Given the description of an element on the screen output the (x, y) to click on. 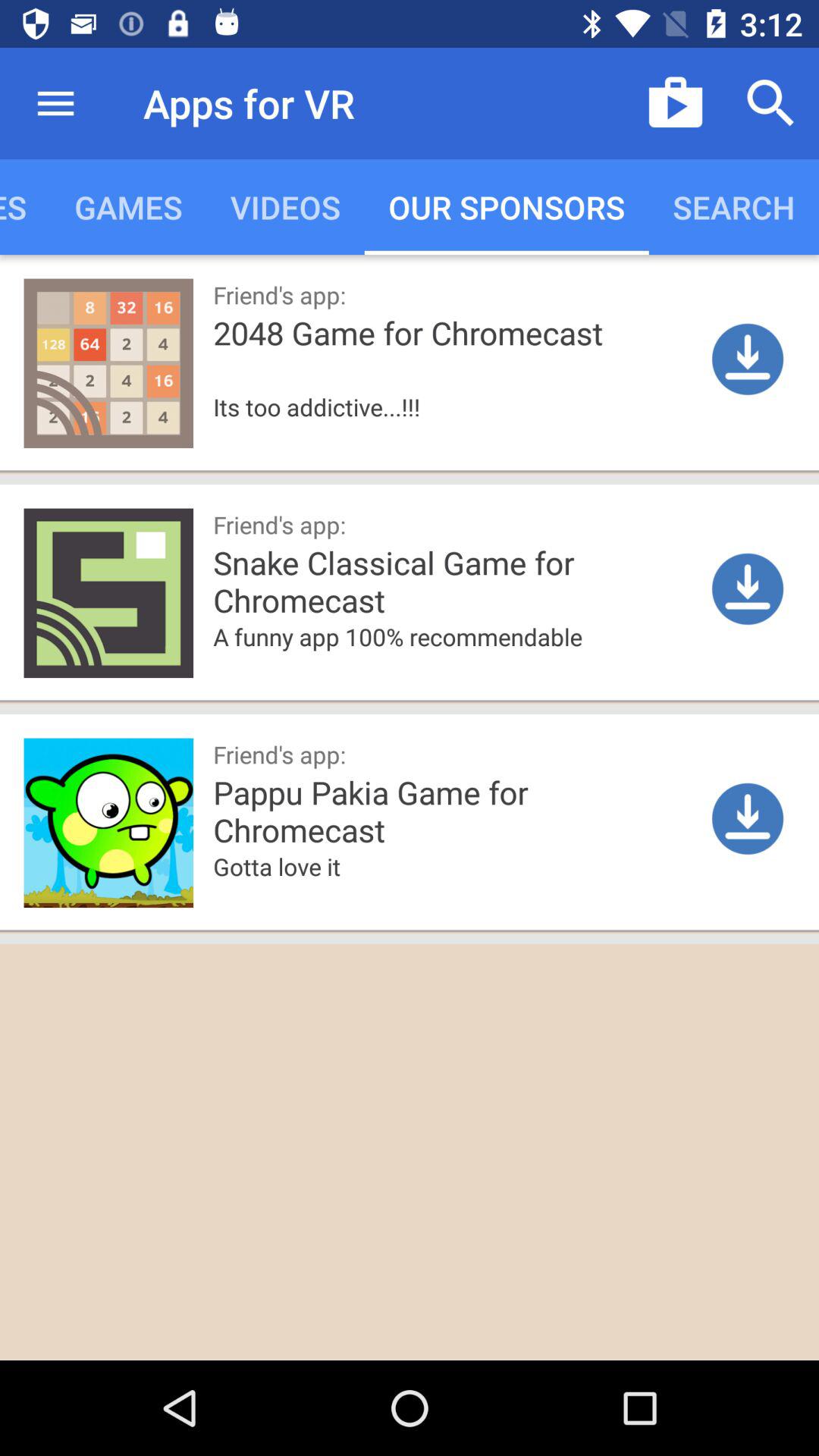
scroll to the its too addictive...!!! (376, 430)
